Given the description of an element on the screen output the (x, y) to click on. 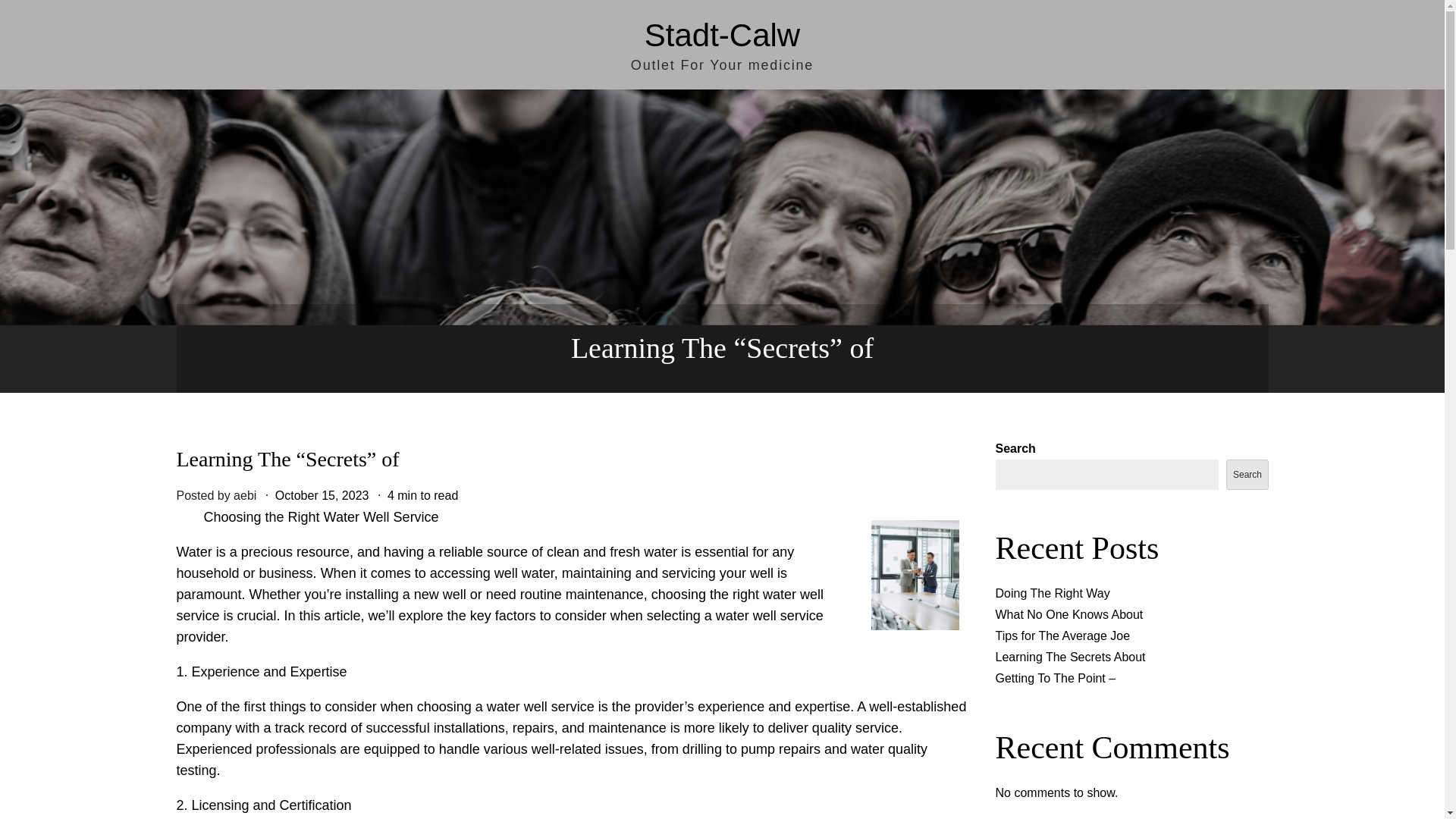
Search (1246, 474)
Tips for The Average Joe (1061, 635)
What No One Knows About (1068, 614)
Learning The Secrets About (1069, 656)
aebi (244, 495)
October 15, 2023 (322, 495)
Doing The Right Way (1051, 593)
Stadt-Calw (722, 35)
